Given the description of an element on the screen output the (x, y) to click on. 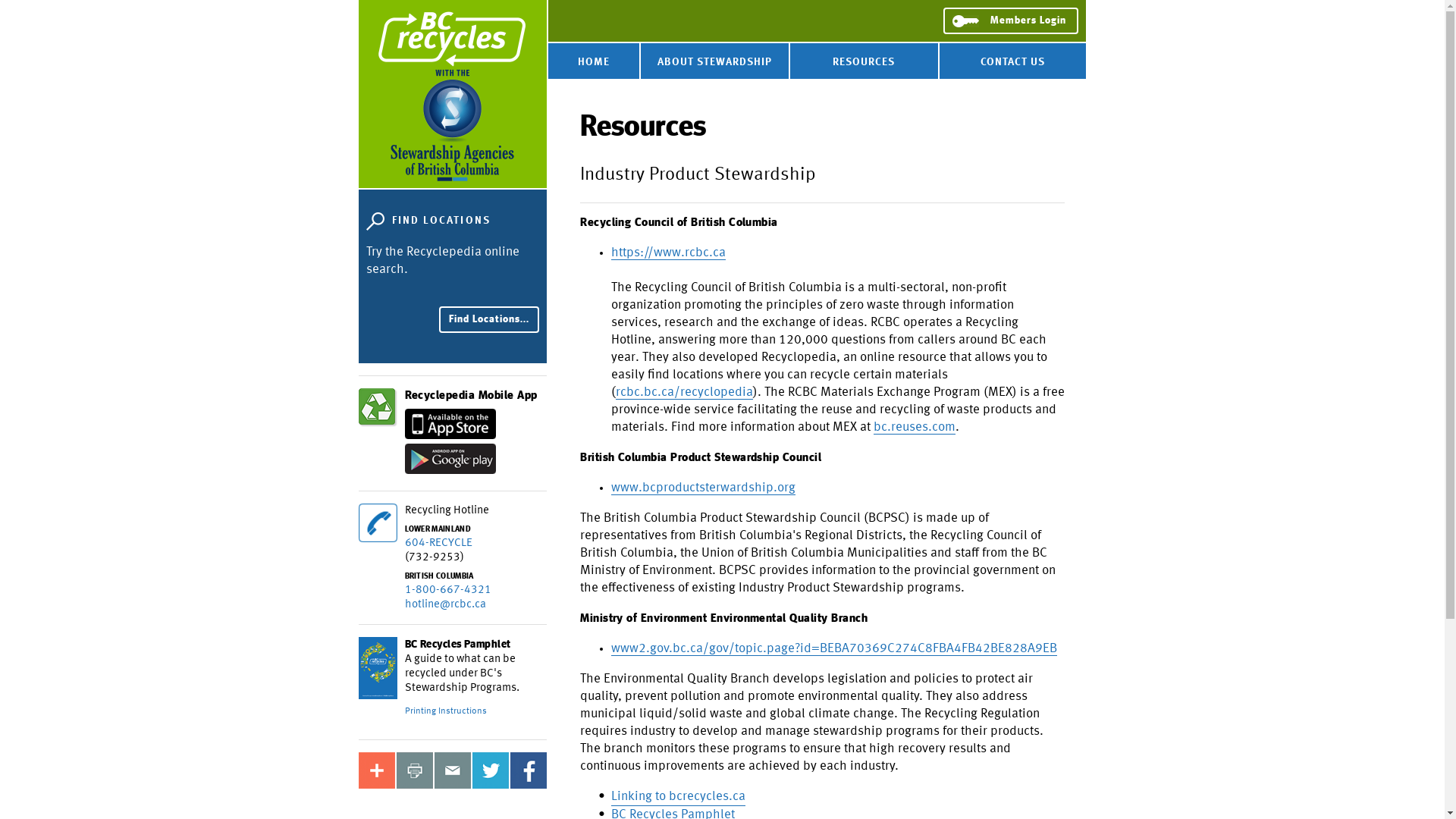
Members Login Element type: text (1010, 20)
Linking to bcrecycles.ca Element type: text (678, 796)
rcbc.bc.ca/recyclopedia Element type: text (684, 392)
BC Recycles Pamphlet Element type: text (457, 643)
www.bcproductsterwardship.org Element type: text (703, 488)
https://www.rcbc.ca Element type: text (668, 253)
RESOURCES Element type: text (864, 60)
bc.reuses.com Element type: text (914, 427)
HOME Element type: text (593, 60)
ABOUT STEWARDSHIP Element type: text (714, 60)
Printing Instructions Element type: text (445, 710)
Find Locations... Element type: text (489, 319)
CONTACT US Element type: text (1012, 60)
hotline@rcbc.ca Element type: text (445, 604)
